Given the description of an element on the screen output the (x, y) to click on. 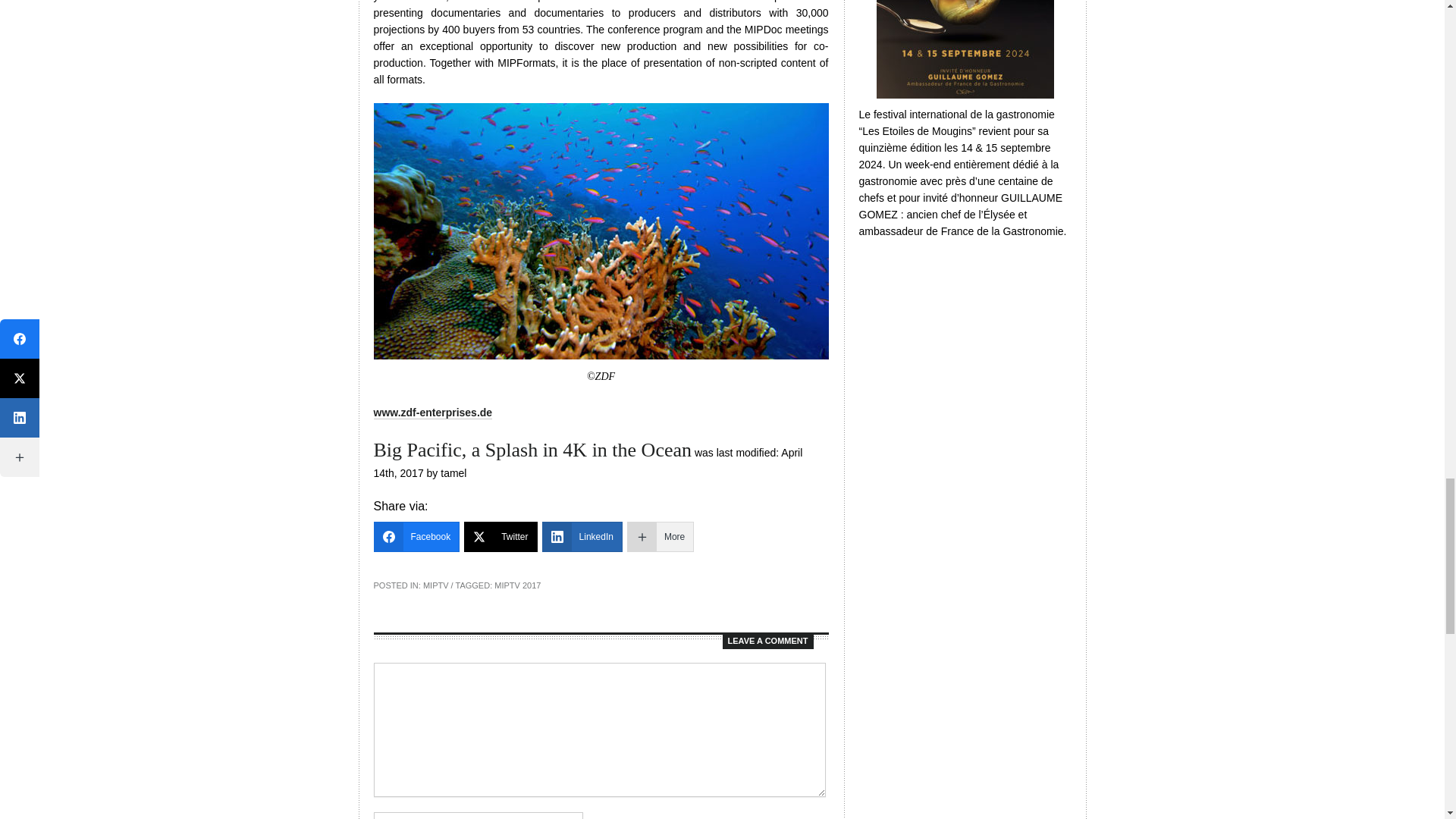
MIPTV 2017 (517, 584)
More (660, 536)
Facebook (416, 536)
MIPTV (435, 584)
Twitter (500, 536)
www.zdf-enterprises.de (432, 412)
LinkedIn (582, 536)
